Given the description of an element on the screen output the (x, y) to click on. 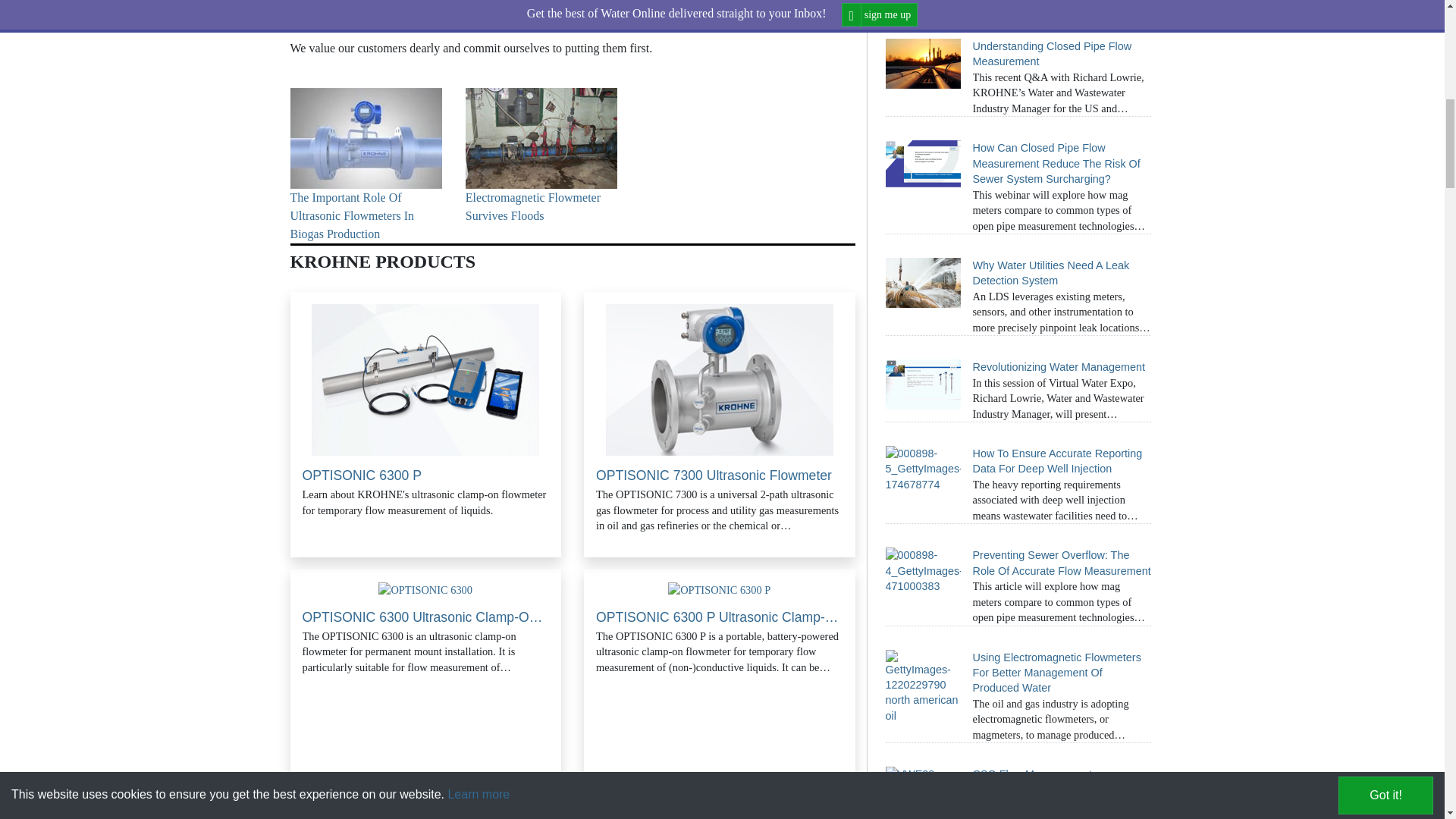
OPTISONIC 6300 P (424, 379)
OPTISONIC 6300 P Ultrasonic Clamp-On Flowmeter (719, 589)
OPTISONIC 6300 Ultrasonic Clamp-On Flowmeter  (424, 589)
OPTISONIC 7300 Ultrasonic Flowmeter (718, 379)
